Given the description of an element on the screen output the (x, y) to click on. 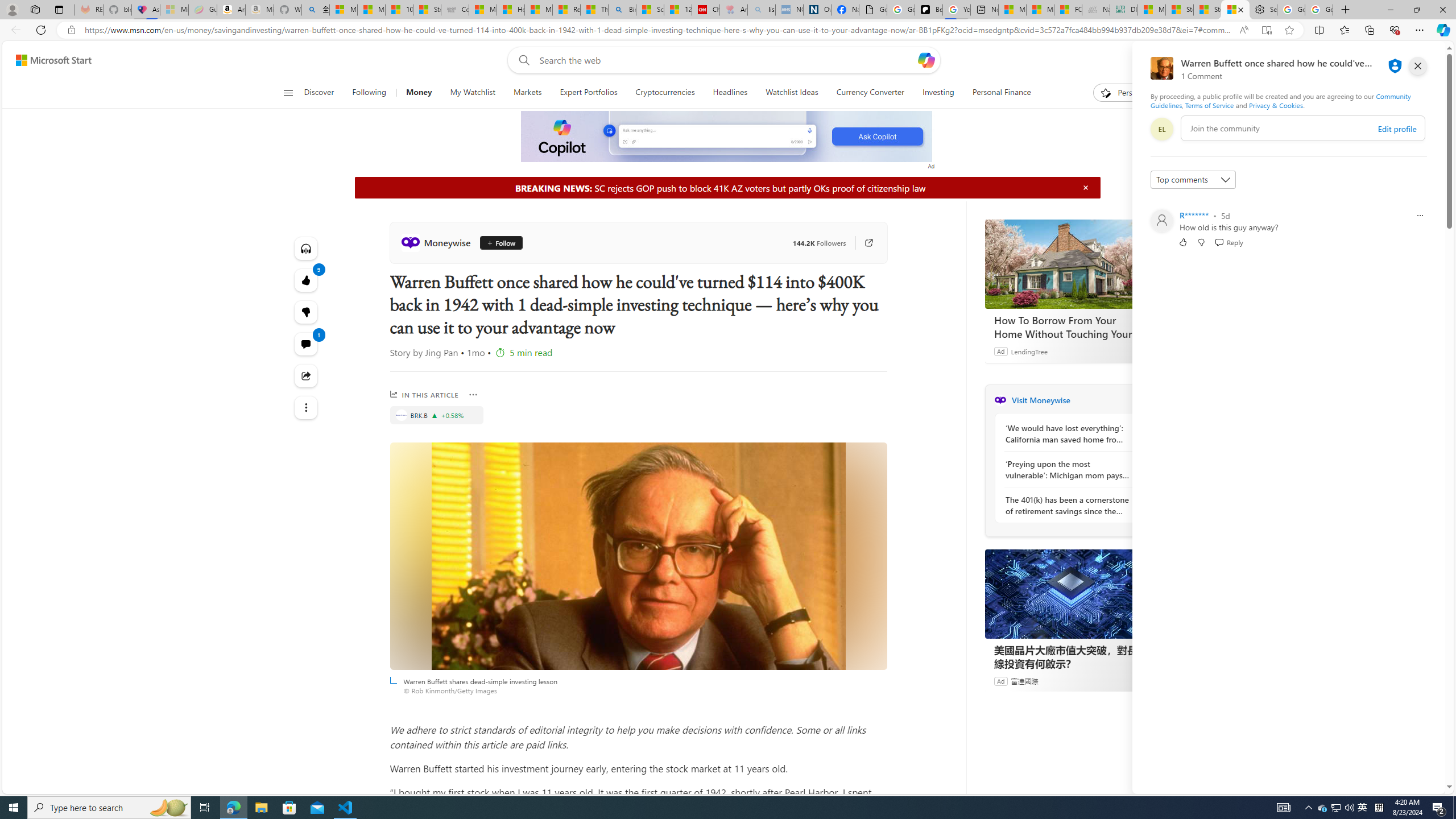
Follow (497, 242)
How To Borrow From Your Home Without Touching Your Mortgage (1069, 326)
Markets (526, 92)
Warren Buffett shares dead-simple investing lesson (637, 555)
FOX News - MSN (1067, 9)
Markets (527, 92)
close (1417, 65)
How To Borrow From Your Home Without Touching Your Mortgage (1070, 263)
